Given the description of an element on the screen output the (x, y) to click on. 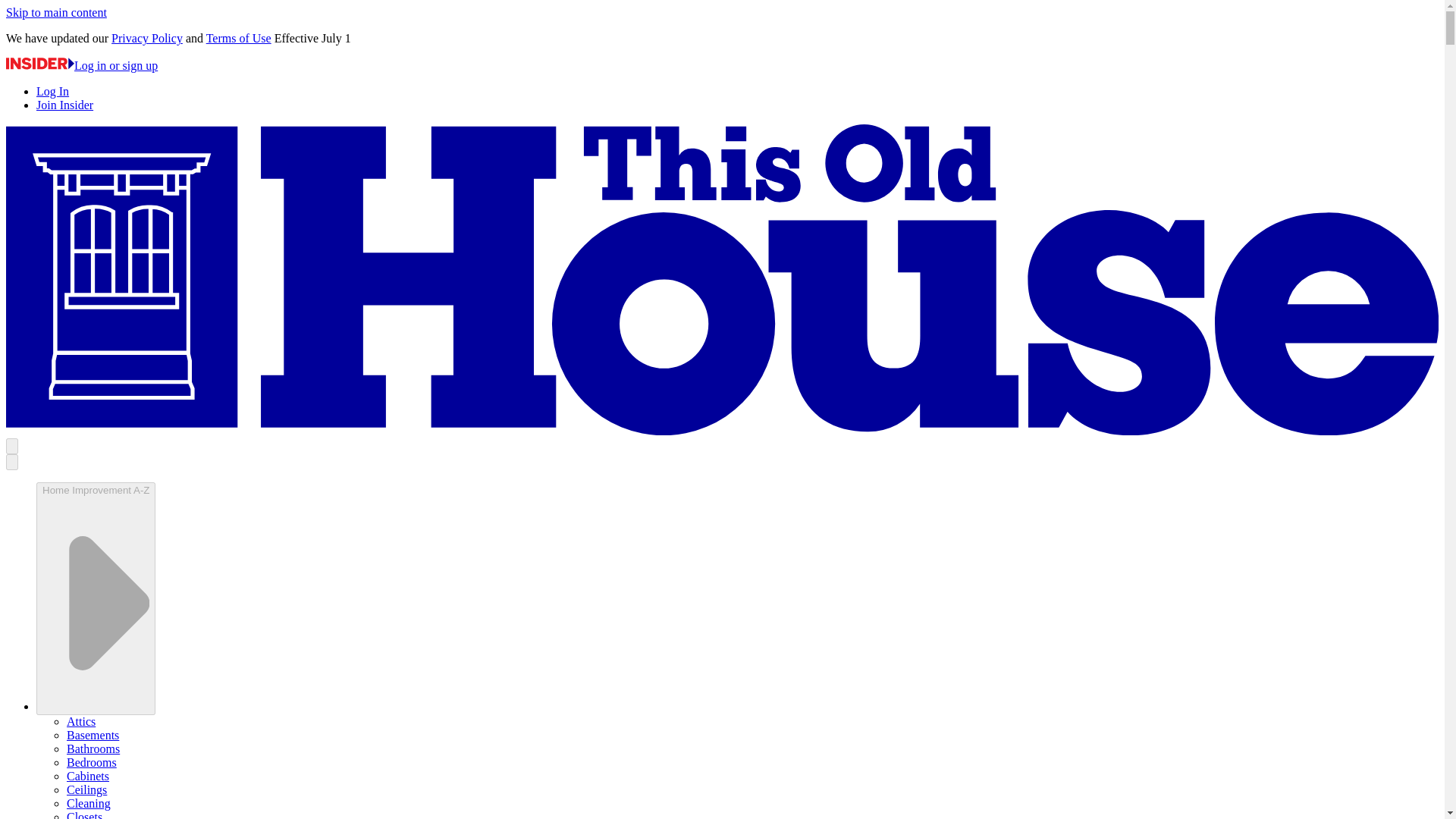
Ceilings (86, 789)
Log In (52, 91)
Join Insider (64, 104)
Closets (83, 814)
Privacy Policy (147, 38)
Skip to main content (55, 11)
Cabinets (87, 775)
Attics (81, 721)
Bedrooms (91, 762)
Basements (92, 735)
